Given the description of an element on the screen output the (x, y) to click on. 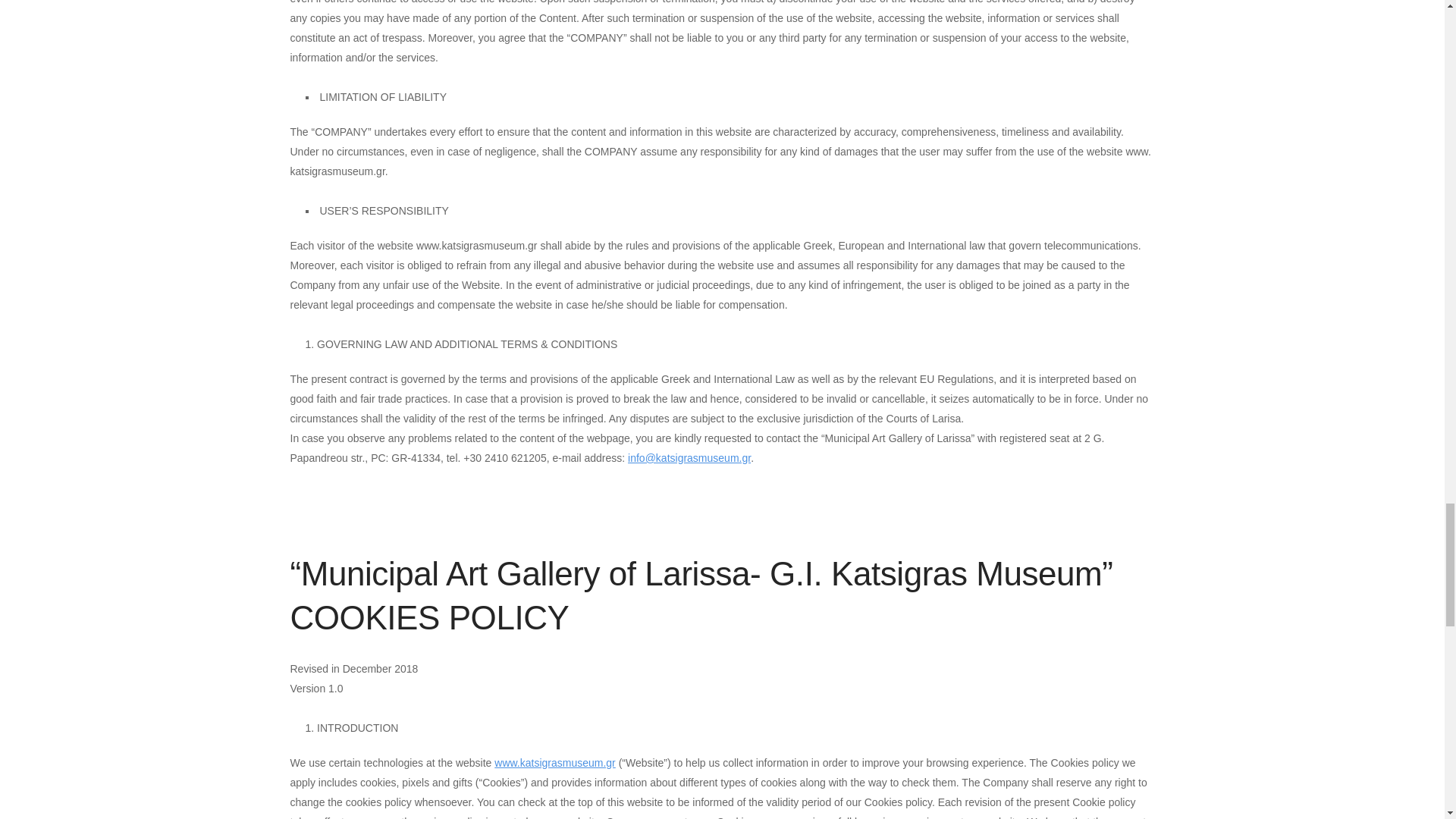
www.katsigrasmuseum.gr (555, 762)
